Given the description of an element on the screen output the (x, y) to click on. 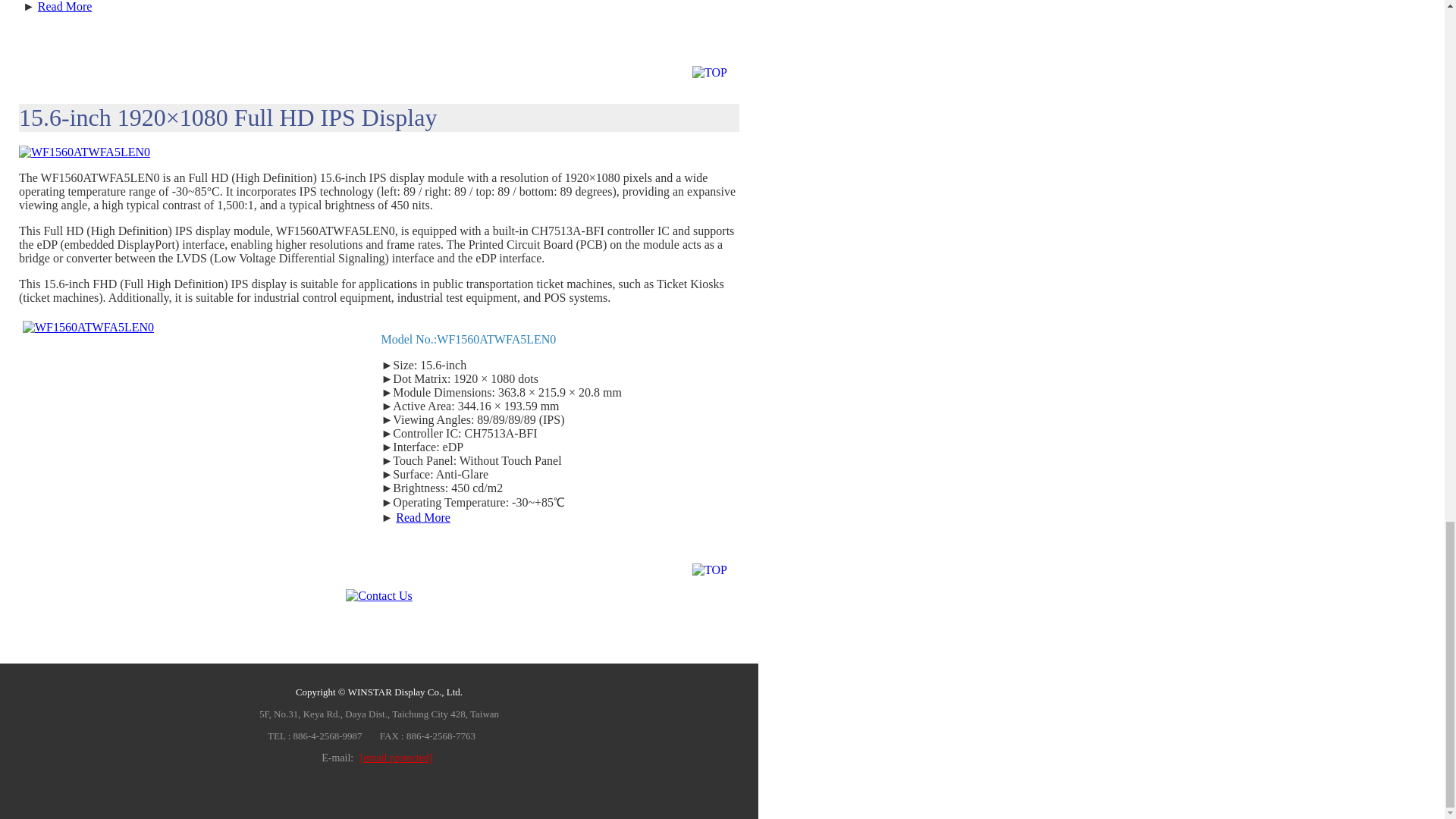
886-4-2568-9987 (328, 736)
5F, No.31, Keya Rd., Daya Dist., Taichung City 428, Taiwan (379, 713)
Read More (422, 517)
Read More (65, 6)
